Given the description of an element on the screen output the (x, y) to click on. 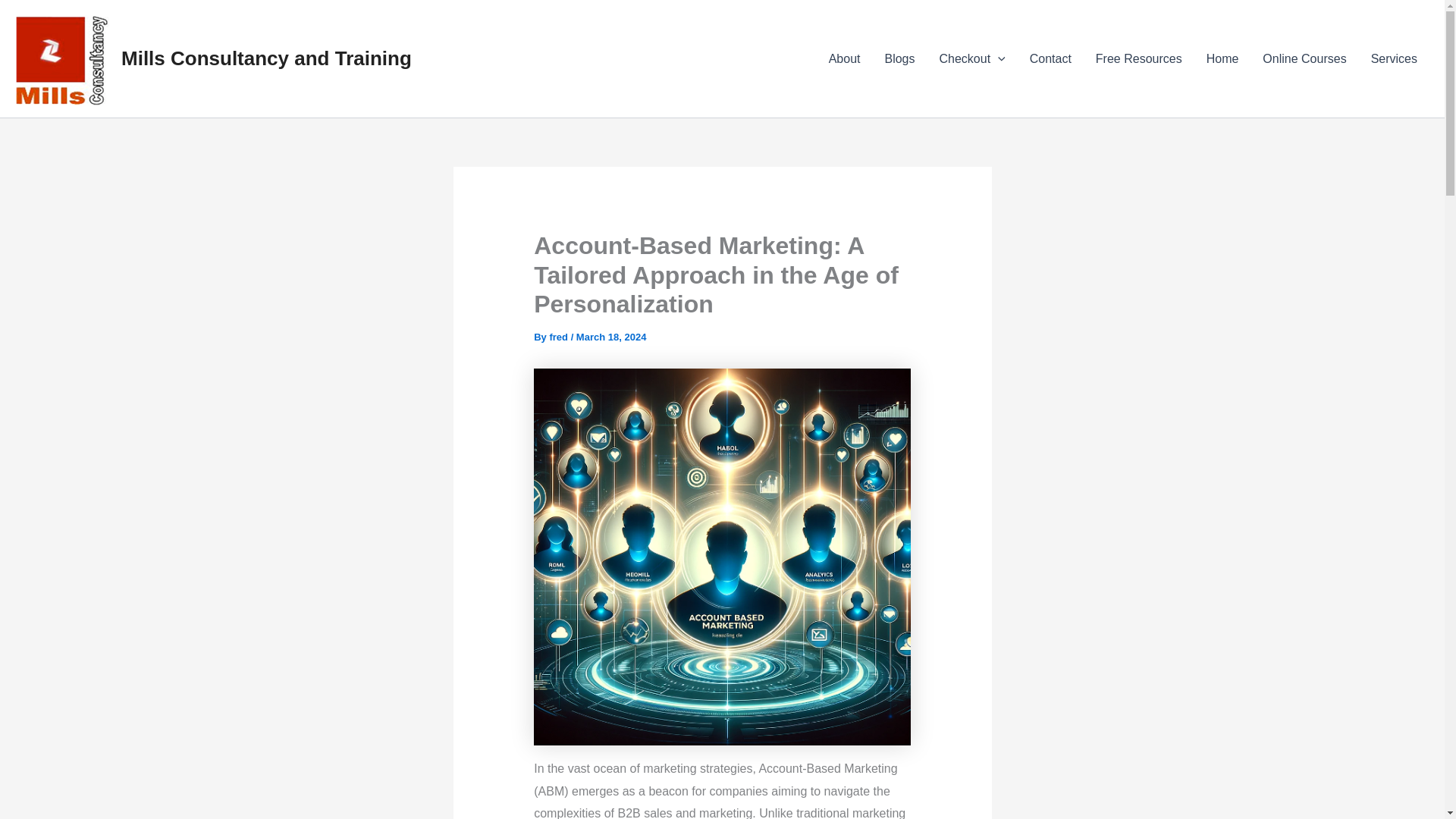
fred (559, 337)
Mills Consultancy and Training (266, 57)
Blogs (899, 58)
Contact (1050, 58)
Online Courses (1304, 58)
Free Resources (1138, 58)
About (844, 58)
View all posts by fred (559, 337)
Checkout (972, 58)
Home (1221, 58)
Services (1393, 58)
